Given the description of an element on the screen output the (x, y) to click on. 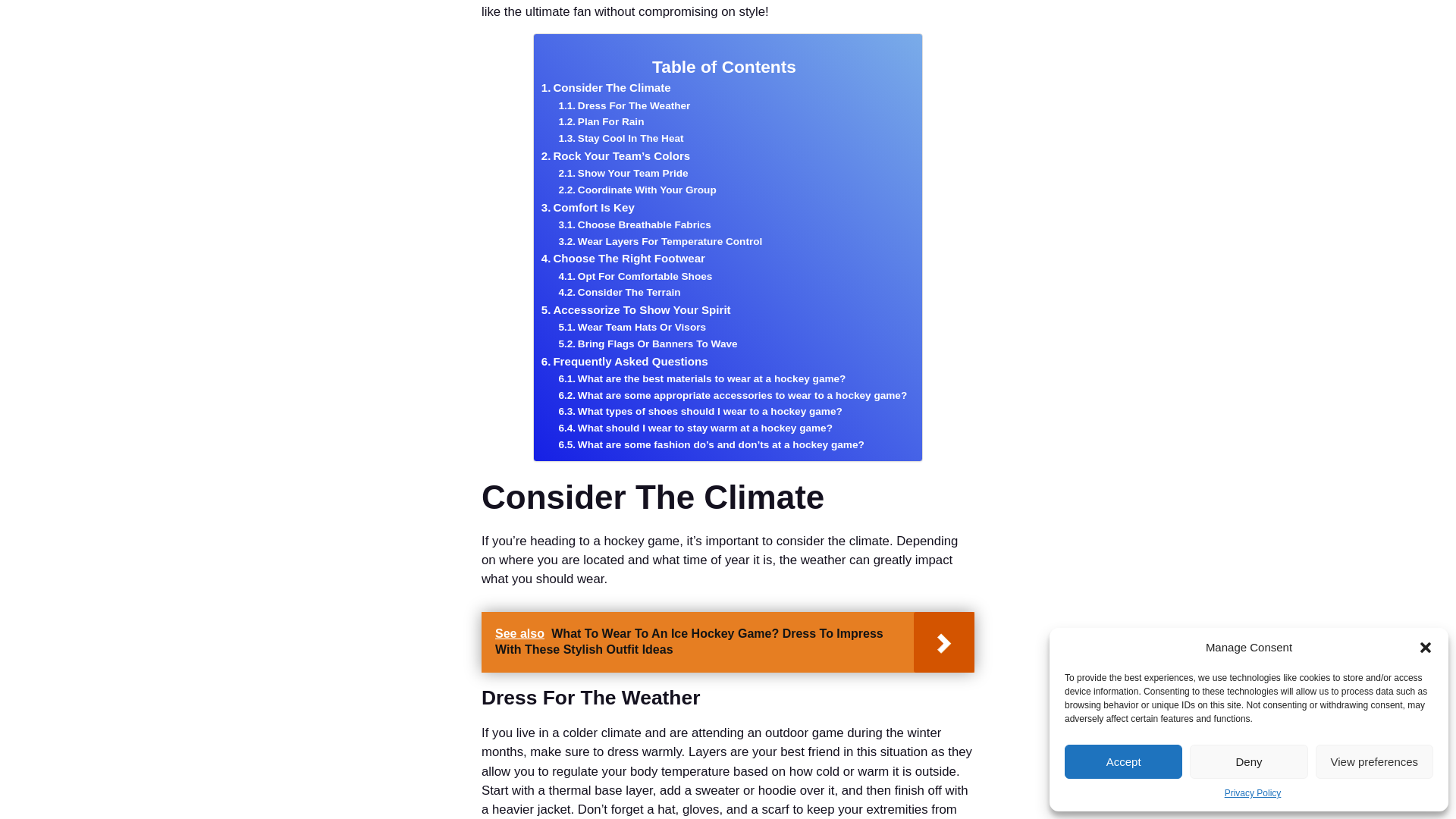
Coordinate With Your Group (636, 190)
Consider The Climate (606, 87)
Comfort Is Key (587, 208)
Stay Cool In The Heat (619, 138)
Coordinate With Your Group (636, 190)
Choose The Right Footwear (622, 258)
Choose Breathable Fabrics (633, 225)
Wear Team Hats Or Visors (631, 327)
Show Your Team Pride (622, 173)
Consider The Terrain (618, 292)
Consider The Climate (606, 87)
Dress For The Weather (623, 105)
Plan For Rain (600, 121)
Wear Layers For Temperature Control (659, 241)
Consider The Terrain (618, 292)
